Given the description of an element on the screen output the (x, y) to click on. 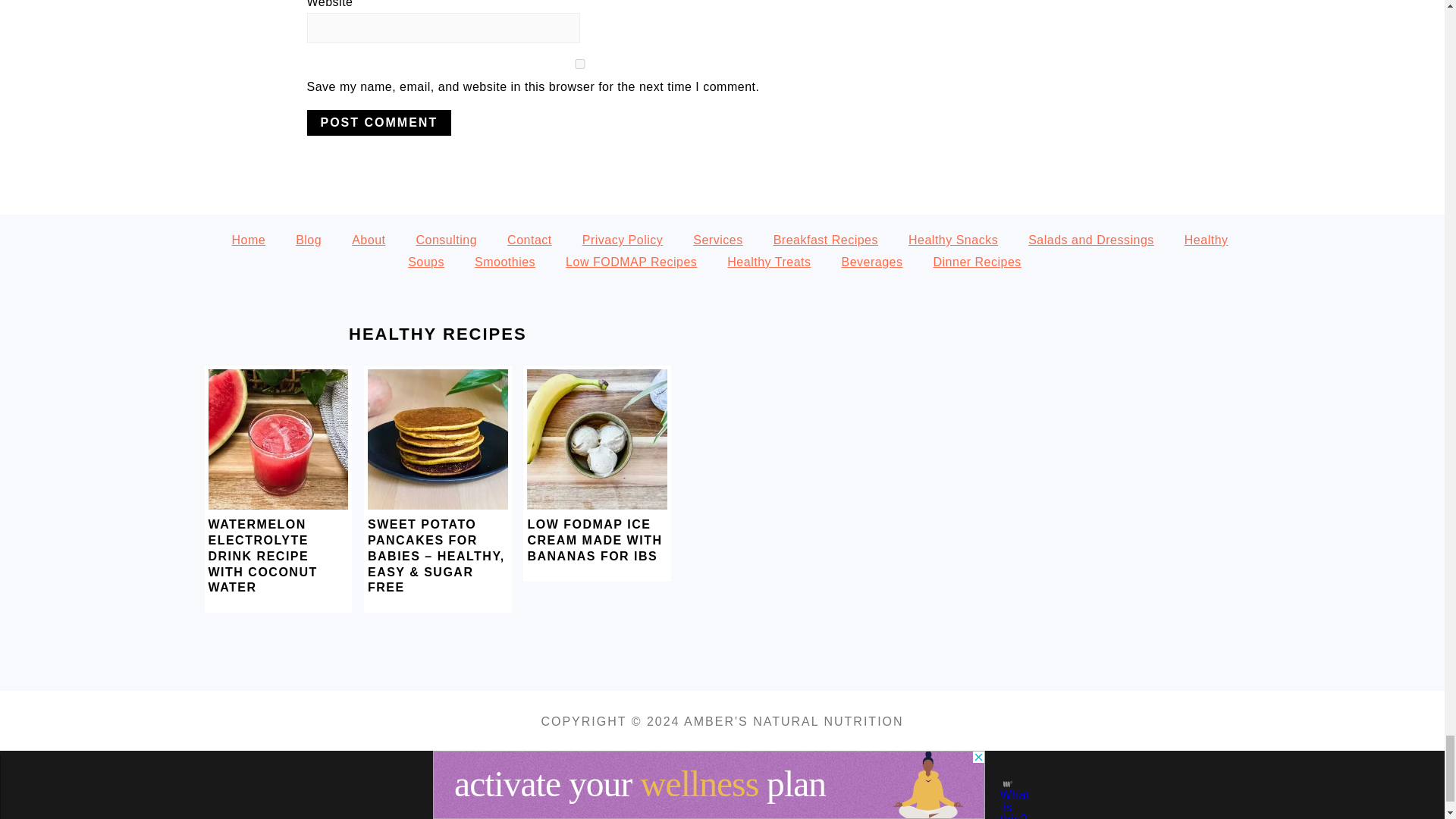
Post Comment (378, 122)
Low Fodmap Ice Cream made with Bananas for IBS (596, 504)
yes (578, 63)
Watermelon Electrolyte Drink Recipe with Coconut Water (277, 504)
